Given the description of an element on the screen output the (x, y) to click on. 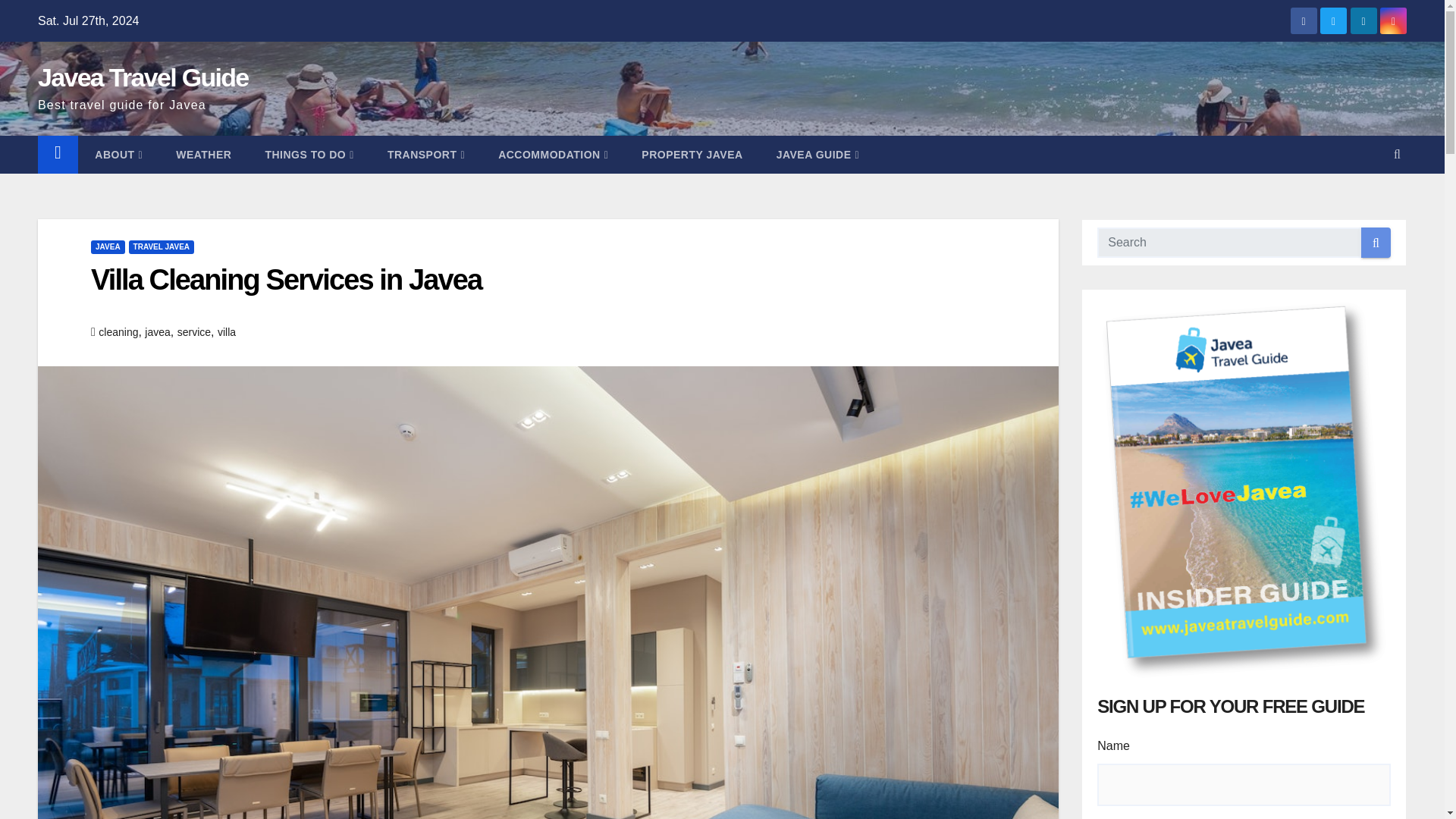
ABOUT (118, 154)
WEATHER (202, 154)
Javea Travel Guide (142, 77)
Permalink to: Villa Cleaning Services in Javea (285, 279)
THINGS TO DO (308, 154)
